Given the description of an element on the screen output the (x, y) to click on. 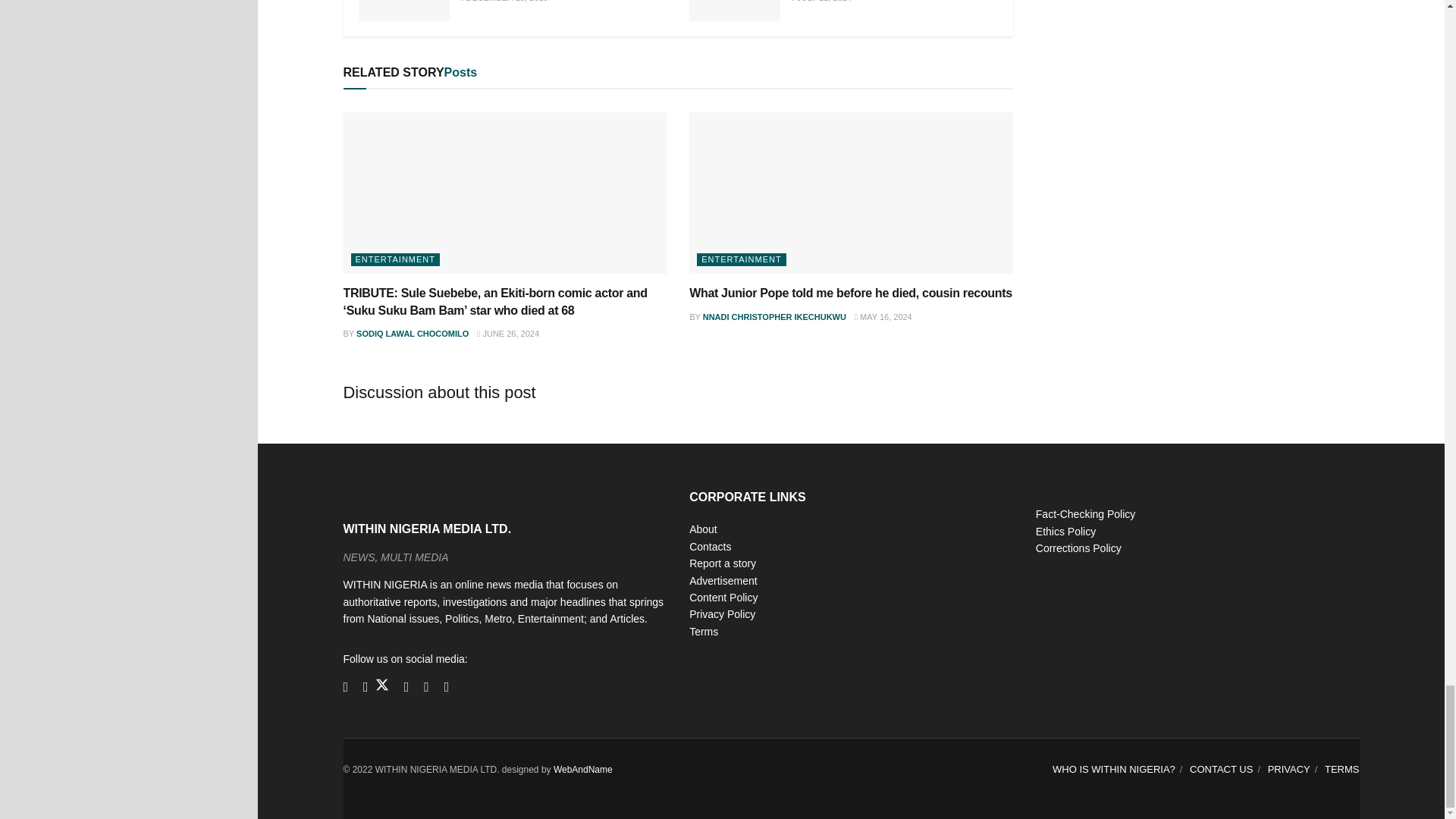
WEB AND NAME (582, 769)
